Given the description of an element on the screen output the (x, y) to click on. 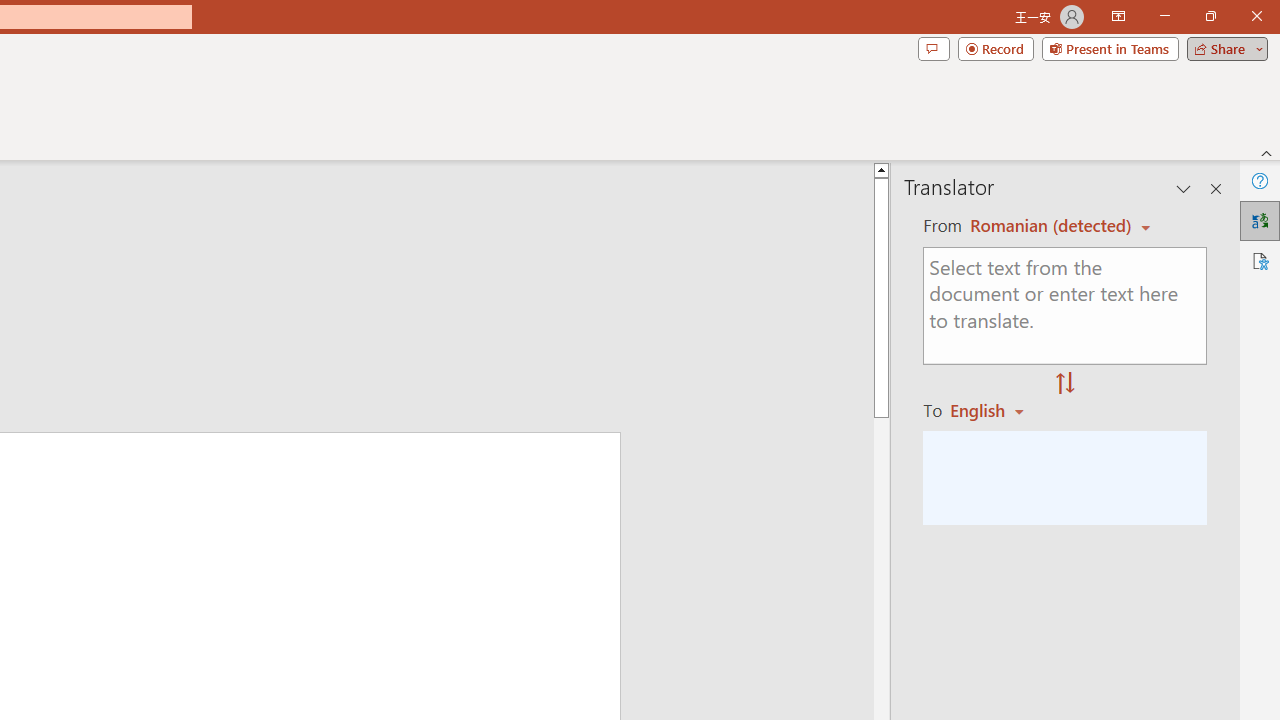
Romanian (detected) (1047, 225)
Accessibility (1260, 260)
Close pane (1215, 188)
Close (1256, 16)
Help (1260, 180)
